Given the description of an element on the screen output the (x, y) to click on. 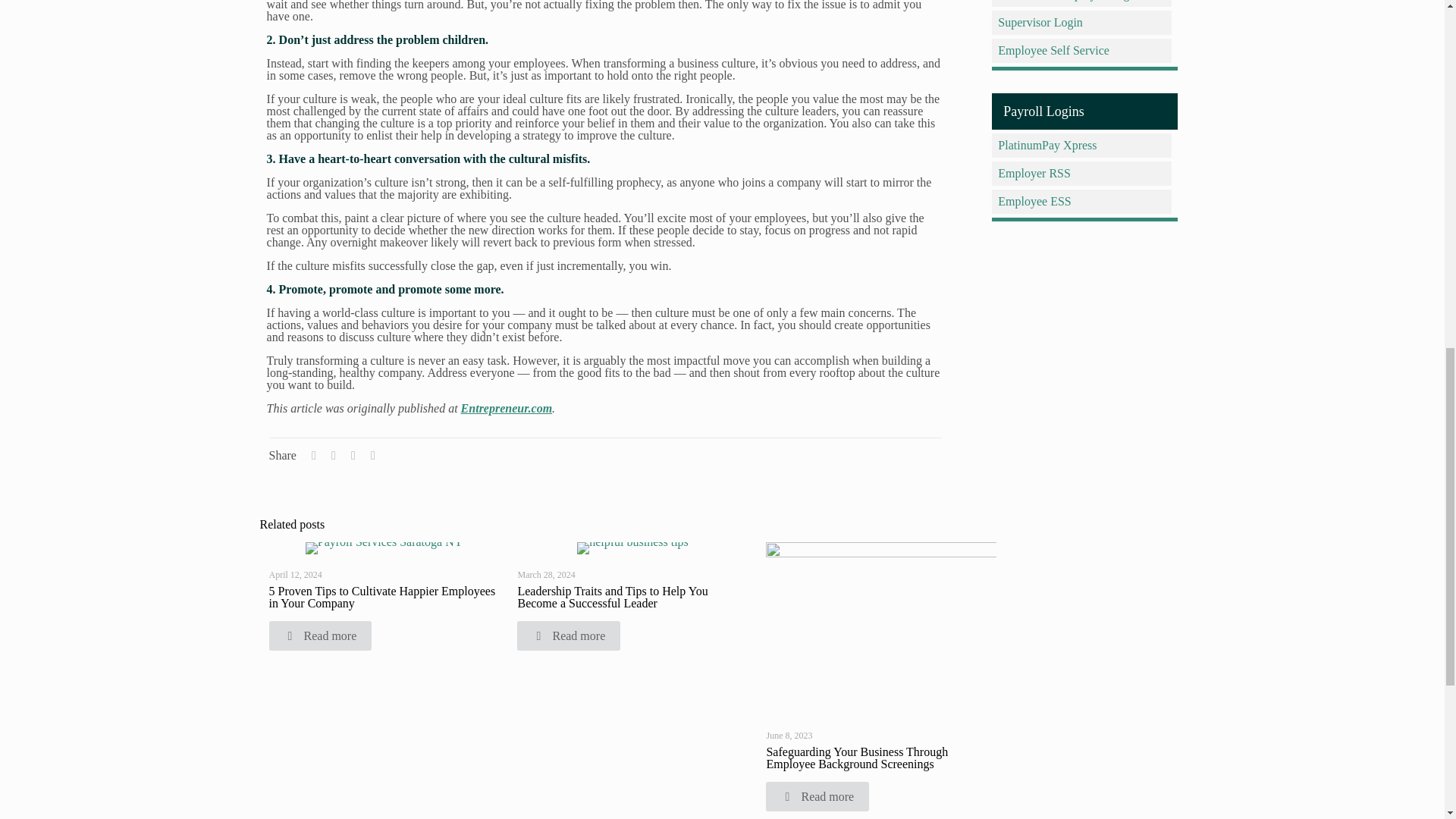
5 Proven Tips to Cultivate Happier Employees in Your Company (381, 596)
Read more (319, 635)
Entrepreneur.com (506, 408)
